Given the description of an element on the screen output the (x, y) to click on. 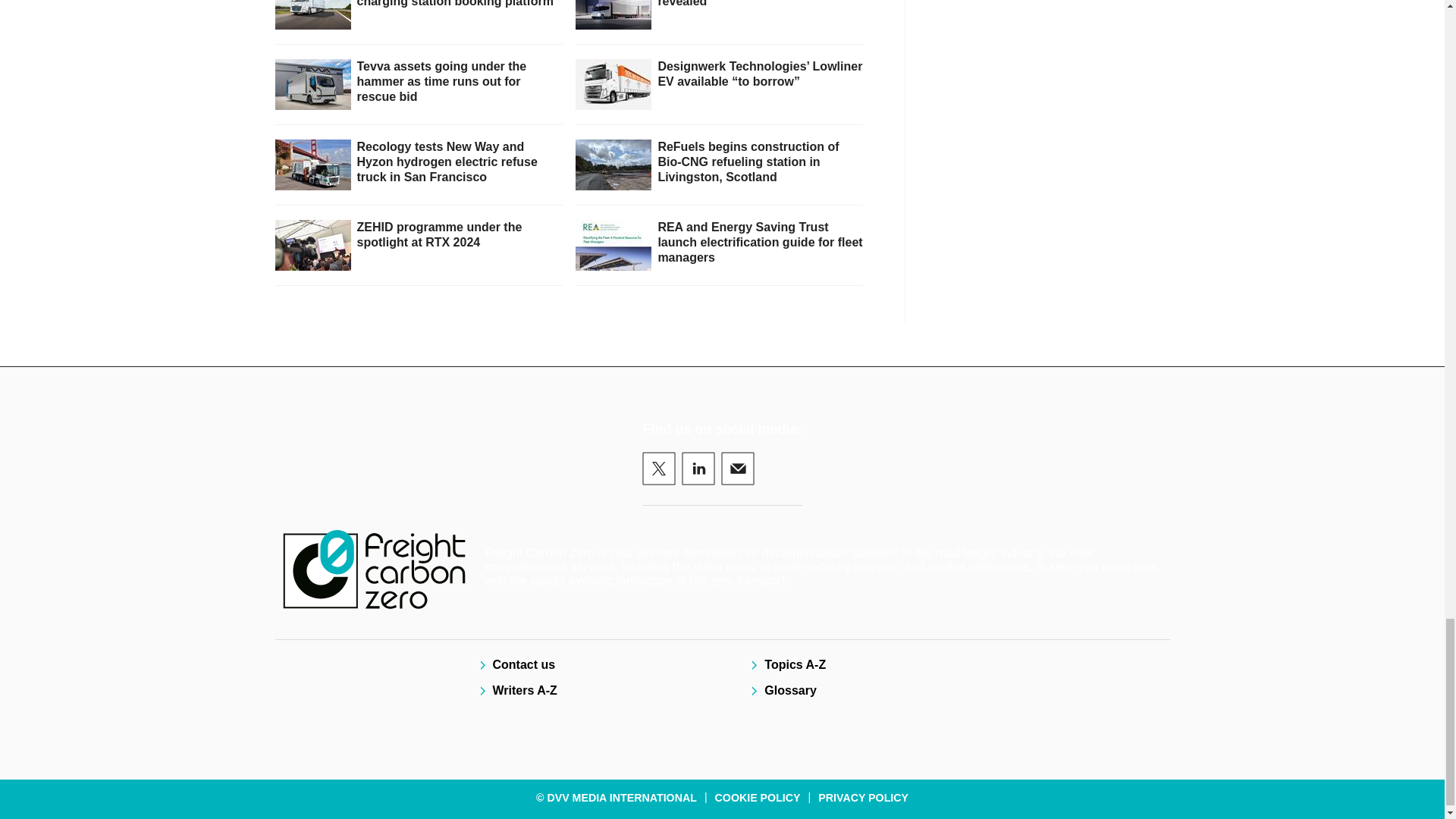
Connect with us on Twitter (658, 468)
Email us (737, 468)
Connect with us on Linked In (697, 468)
